Given the description of an element on the screen output the (x, y) to click on. 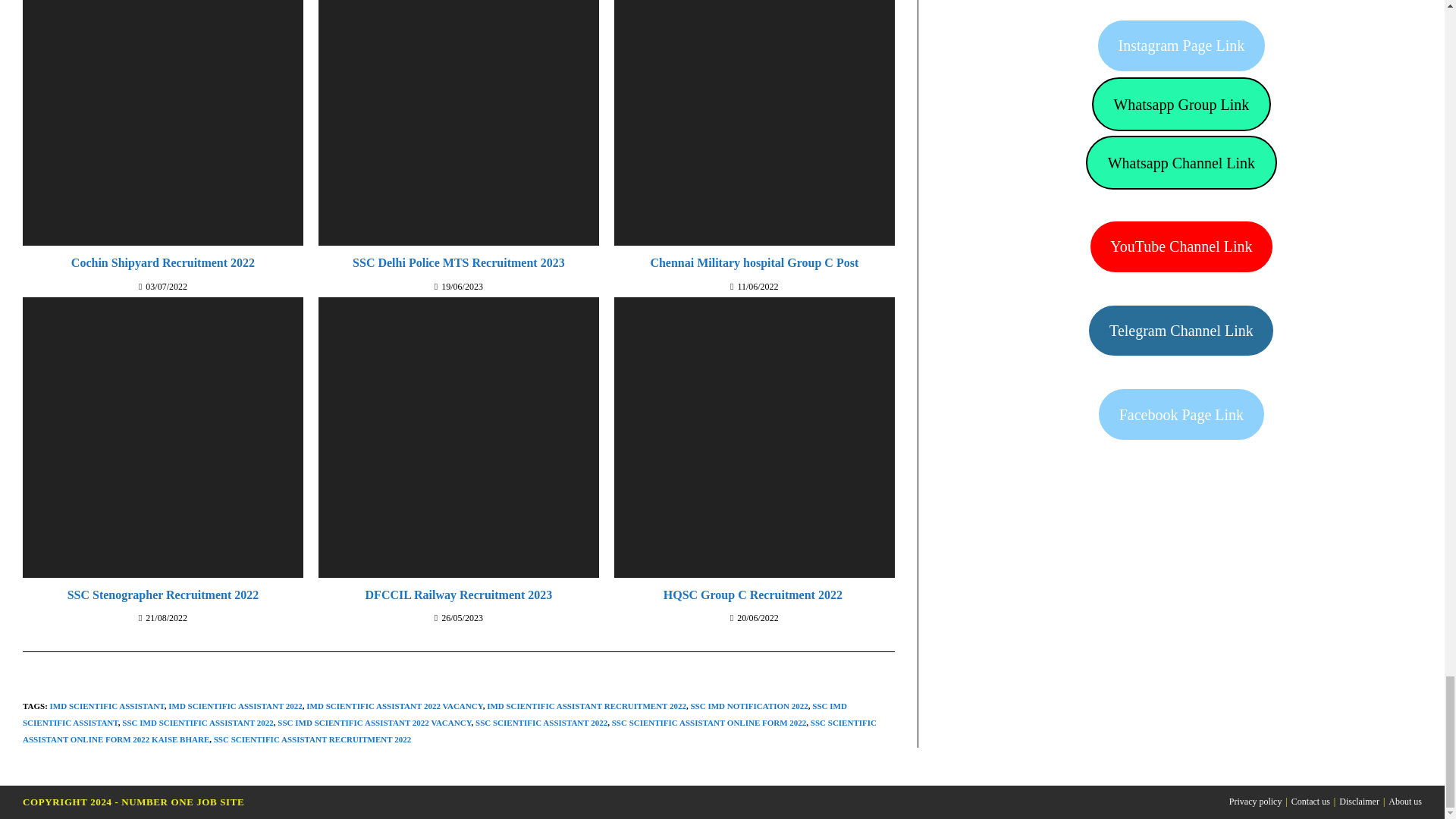
Cochin Shipyard Recruitment 2022 (163, 262)
Chennai Military hospital Group C Post (754, 262)
SSC Delhi Police MTS Recruitment 2023 (458, 262)
